Given the description of an element on the screen output the (x, y) to click on. 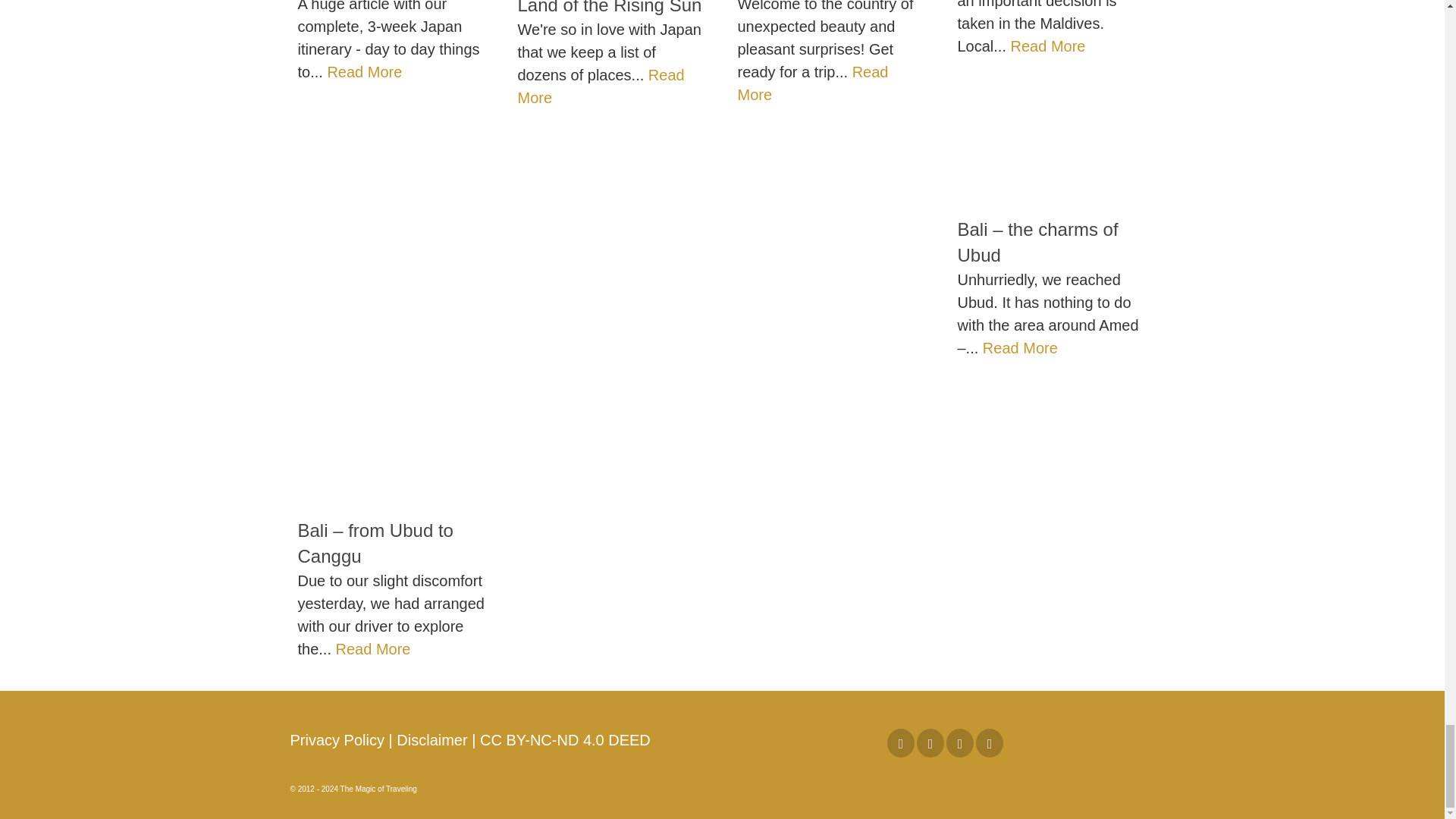
YouTube (960, 742)
Facebook (900, 742)
RSS (989, 742)
Instagram (930, 742)
